Given the description of an element on the screen output the (x, y) to click on. 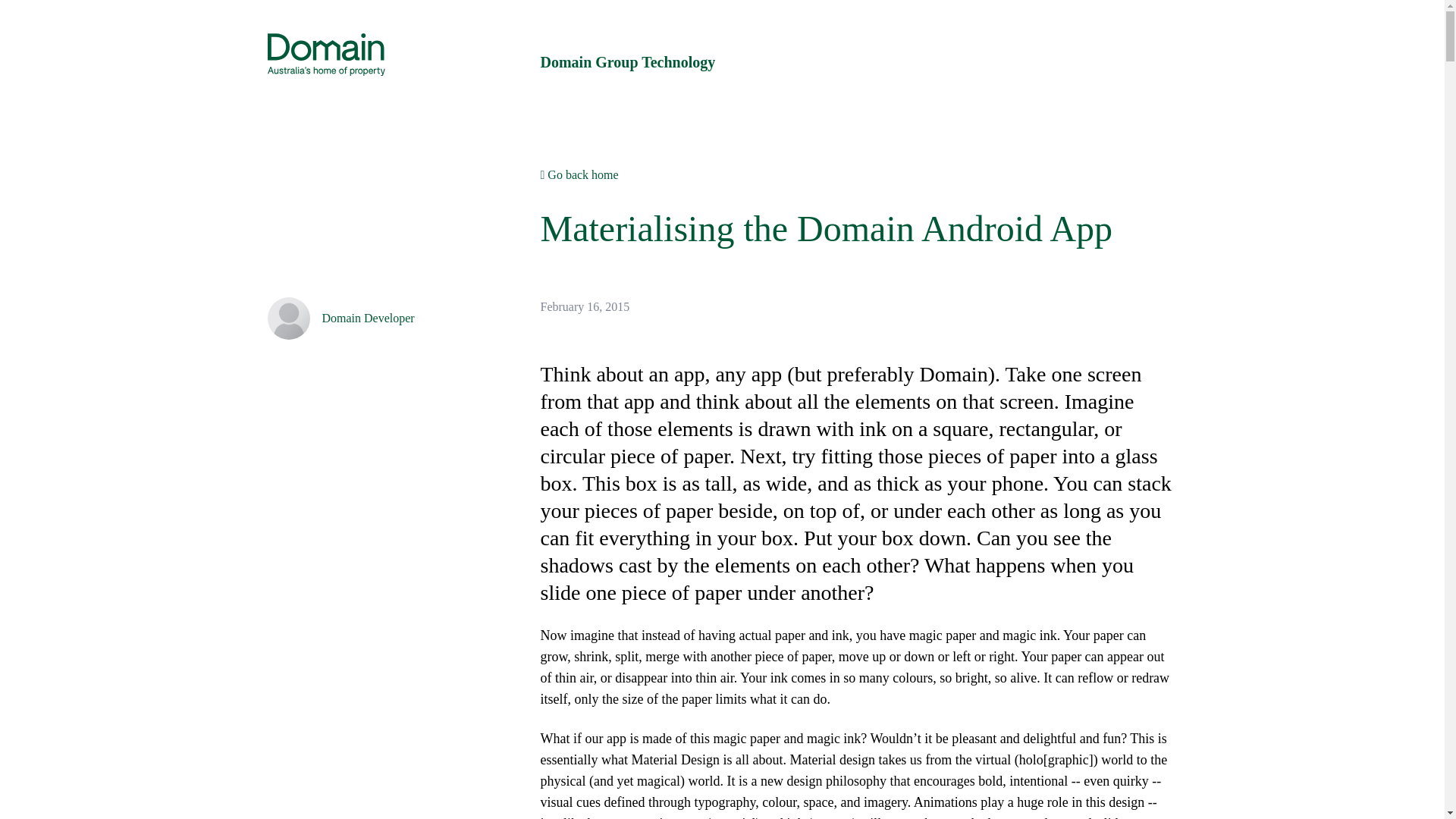
Domain Developer Element type: text (367, 317)
